Given the description of an element on the screen output the (x, y) to click on. 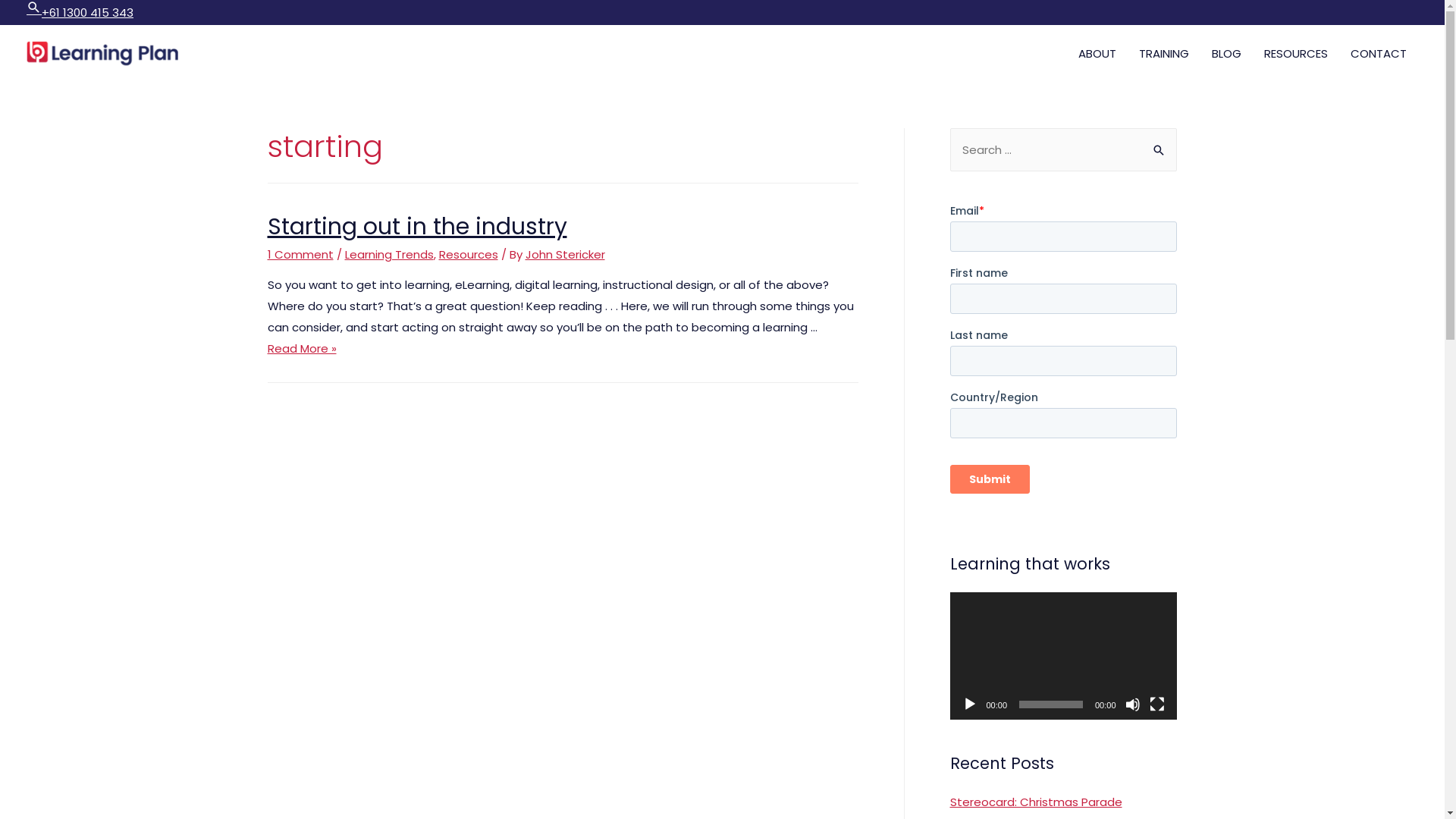
Stereocard: Christmas Parade Element type: text (1035, 801)
+61 1300 415 343 Element type: text (87, 12)
Form 0 Element type: hover (1062, 361)
1 Comment Element type: text (299, 254)
Play Element type: hover (968, 704)
Search Element type: text (1159, 143)
Search Element type: text (33, 7)
Resources Element type: text (467, 254)
Learning Trends Element type: text (388, 254)
BLOG Element type: text (1226, 53)
CONTACT Element type: text (1378, 53)
Fullscreen Element type: hover (1156, 704)
ABOUT Element type: text (1096, 53)
RESOURCES Element type: text (1295, 53)
TRAINING Element type: text (1163, 53)
Mute Element type: hover (1132, 704)
Starting out in the industry Element type: text (416, 226)
John Stericker Element type: text (564, 254)
